Given the description of an element on the screen output the (x, y) to click on. 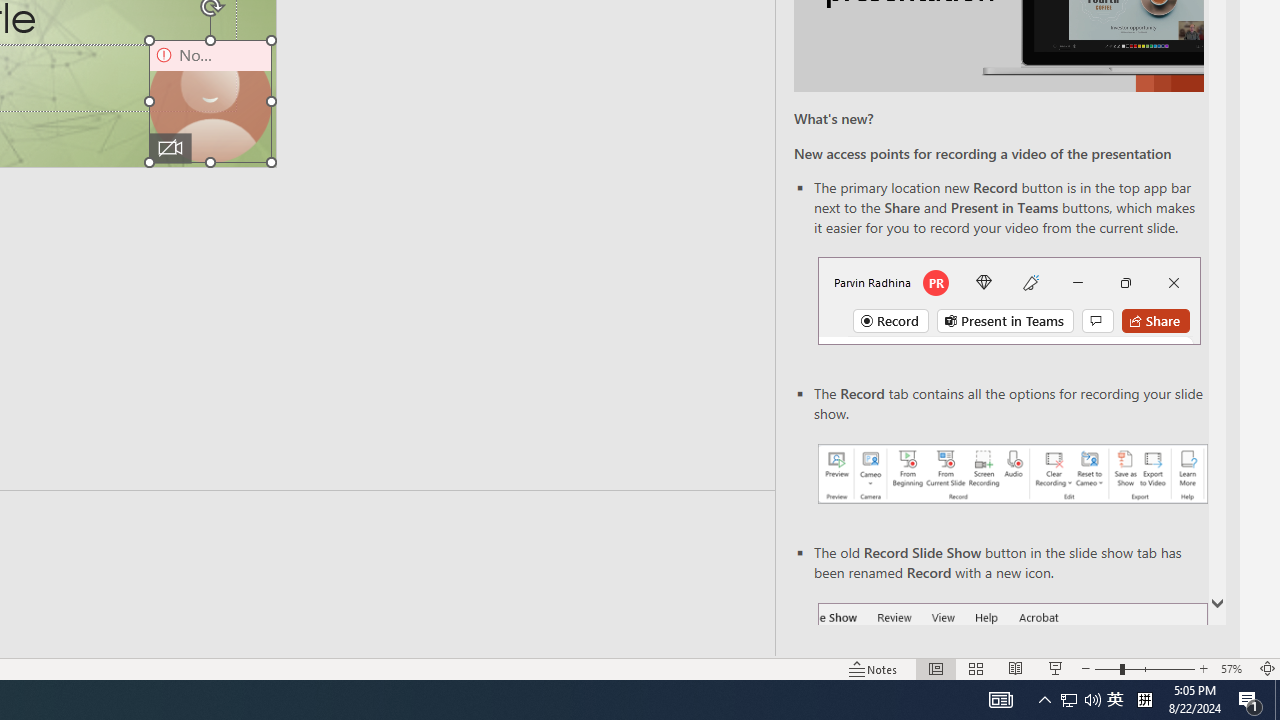
Record button in top bar (1008, 300)
Record your presentations screenshot one (1012, 473)
Zoom 57% (1234, 668)
Camera 9, No camera detected. (210, 101)
